Given the description of an element on the screen output the (x, y) to click on. 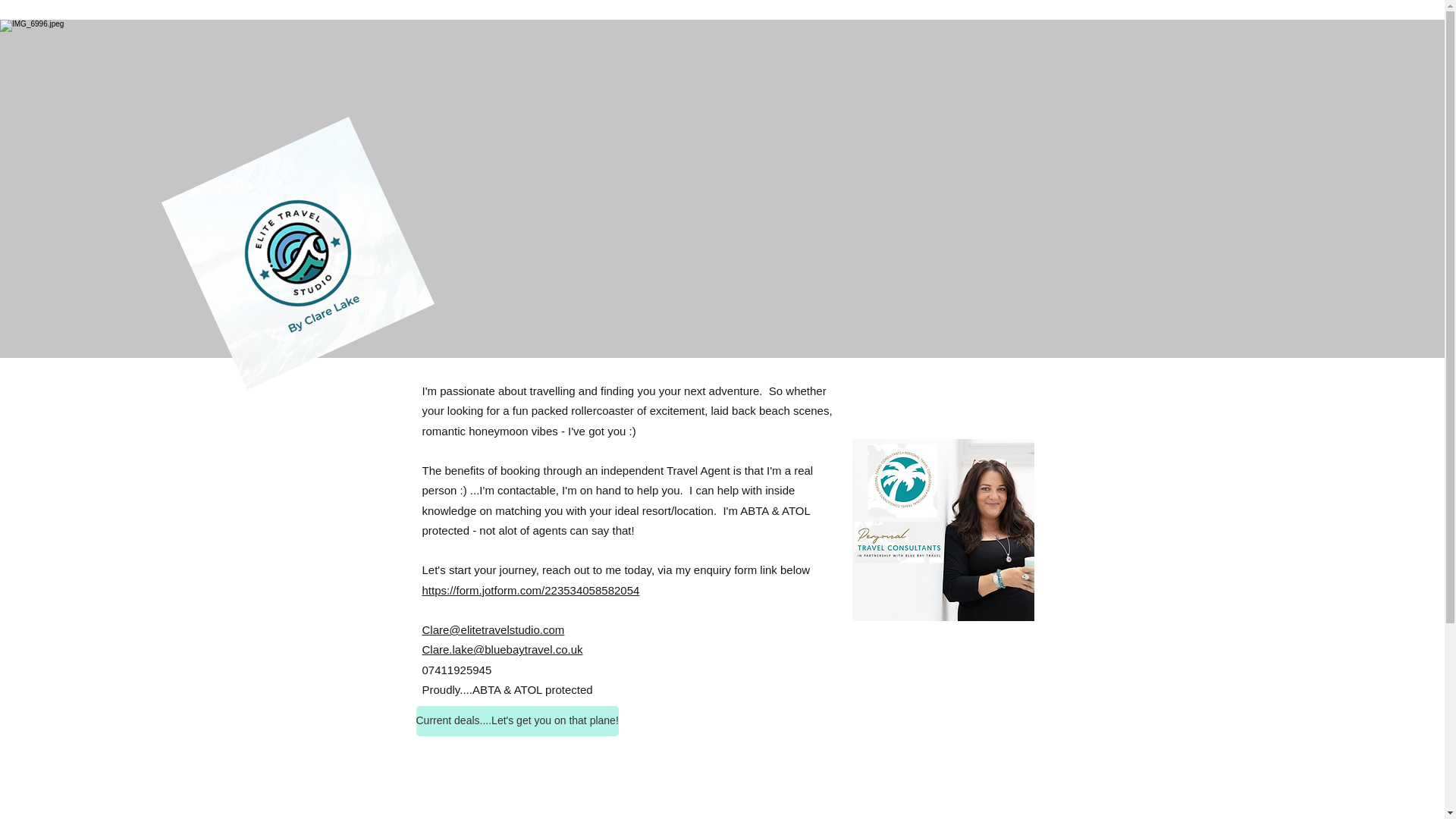
Blue Circle Wave Surf Club Sports Logo.p (263, 219)
Clare Lake PTC.png (942, 529)
Current deals....Let's get you on that plane! (515, 720)
